Given the description of an element on the screen output the (x, y) to click on. 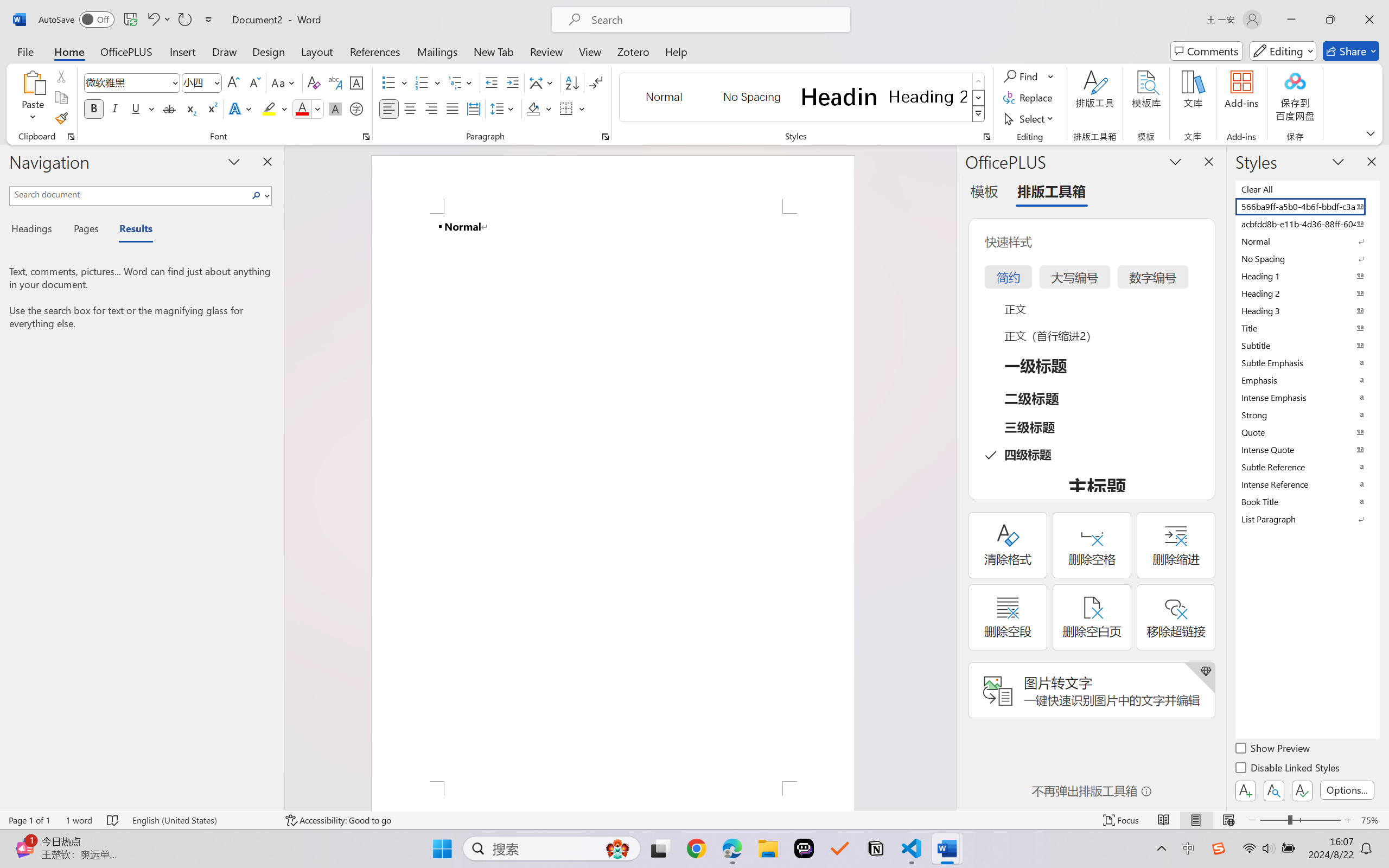
Heading 2 (927, 96)
Bold (94, 108)
Design (268, 51)
Web Layout (1228, 819)
Options... (1346, 789)
Paragraph... (605, 136)
Intense Reference (1306, 484)
References (375, 51)
Language English (United States) (201, 819)
Book Title (1306, 501)
Draw (224, 51)
